Given the description of an element on the screen output the (x, y) to click on. 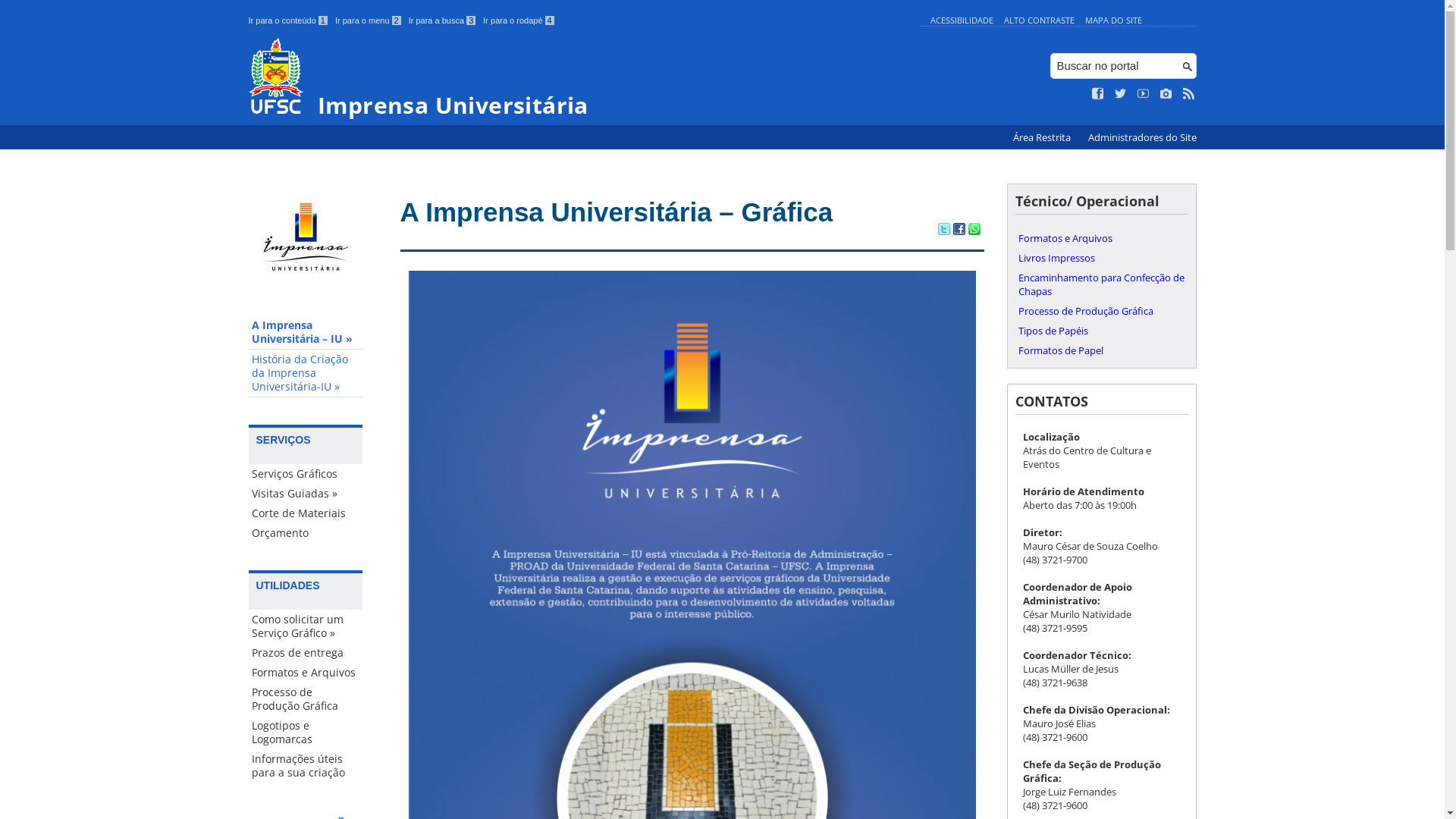
Prazos de entrega Element type: text (305, 652)
Compartilhar no Facebook Element type: hover (958, 230)
Ir para a busca 3 Element type: text (442, 20)
Siga no Twitter Element type: hover (1120, 93)
Administradores do Site Element type: text (1141, 137)
Veja no Instagram Element type: hover (1166, 93)
Logotipos e Logomarcas Element type: text (305, 732)
Curta no Facebook Element type: hover (1098, 93)
Livros Impressos Element type: text (1100, 257)
MAPA DO SITE Element type: text (1112, 19)
ACESSIBILIDADE Element type: text (960, 19)
ALTO CONTRASTE Element type: text (1039, 19)
Corte de Materiais Element type: text (305, 513)
Formatos e Arquivos Element type: text (305, 672)
Compartilhar no WhatsApp Element type: hover (973, 230)
Ir para o menu 2 Element type: text (368, 20)
Compartilhar no Twitter Element type: hover (943, 230)
Formatos e Arquivos Element type: text (1100, 237)
Formatos de Papel Element type: text (1100, 350)
